Given the description of an element on the screen output the (x, y) to click on. 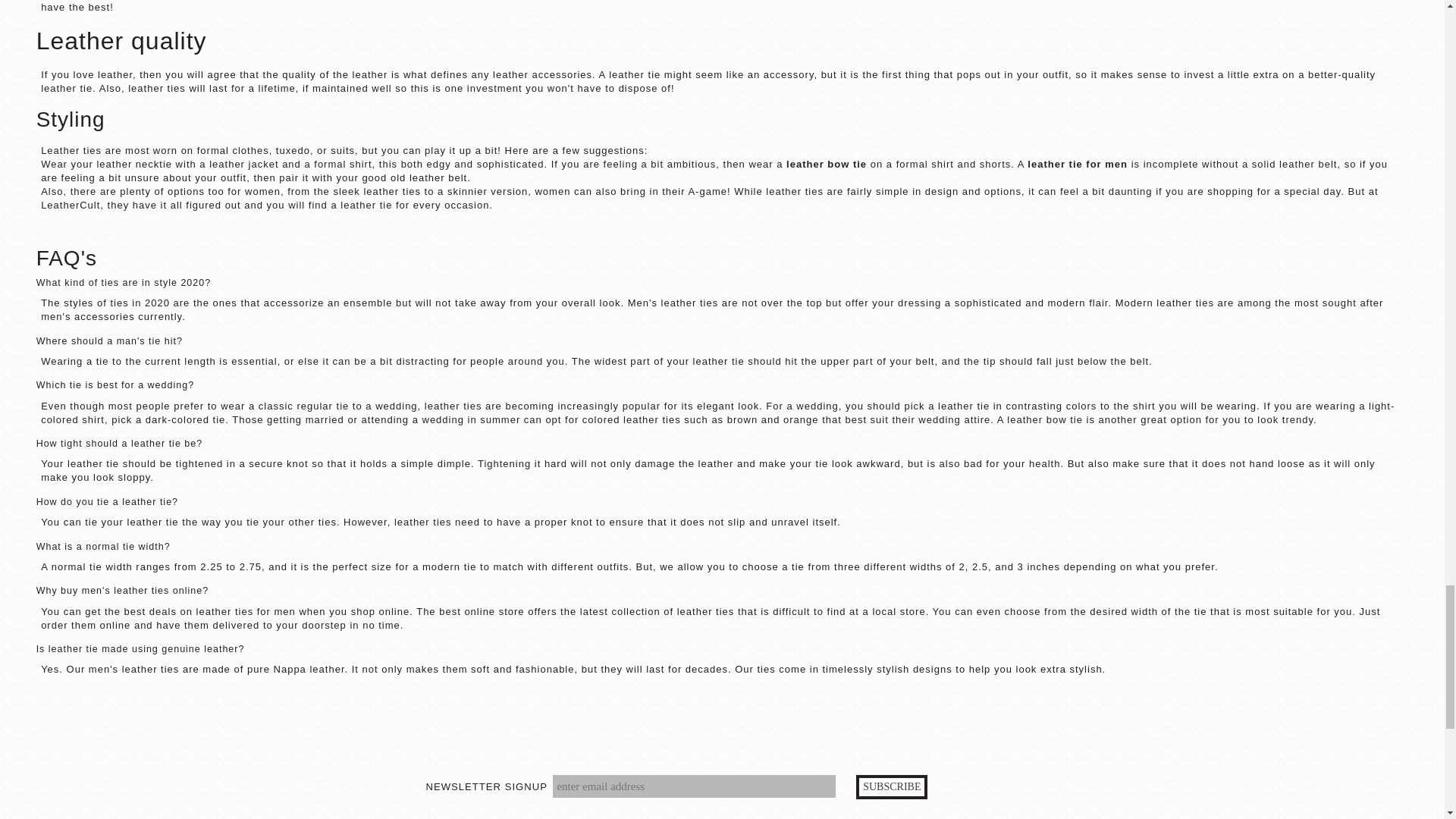
Subscribe (891, 786)
